Given the description of an element on the screen output the (x, y) to click on. 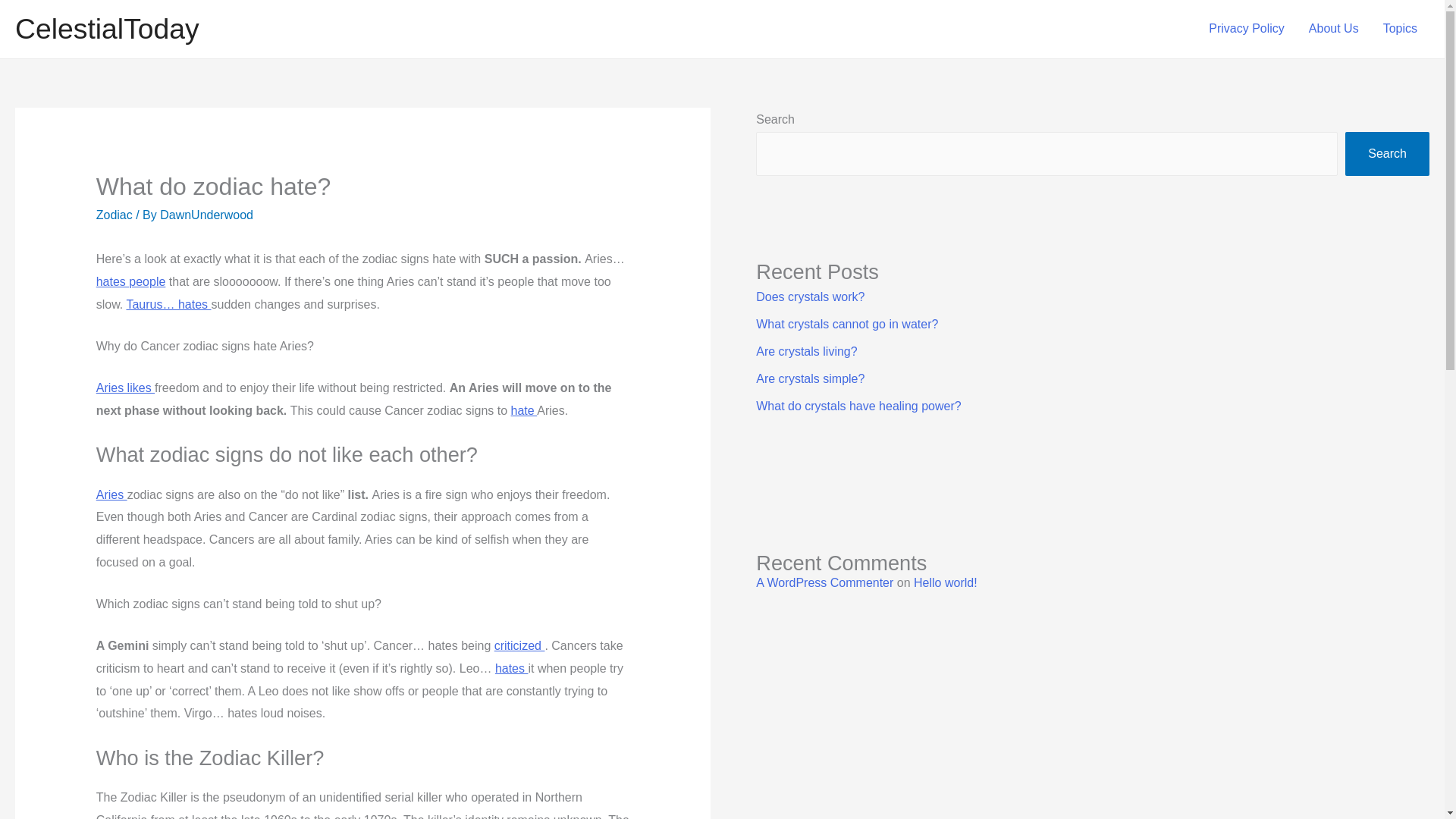
Hello world! (945, 582)
hates people (130, 281)
Are crystals simple? (809, 378)
A WordPress Commenter (824, 582)
hate (524, 410)
Topics (1400, 28)
Are crystals living? (806, 350)
Privacy Policy (1246, 28)
What crystals cannot go in water? (846, 323)
View all posts by DawnUnderwood (206, 214)
